Given the description of an element on the screen output the (x, y) to click on. 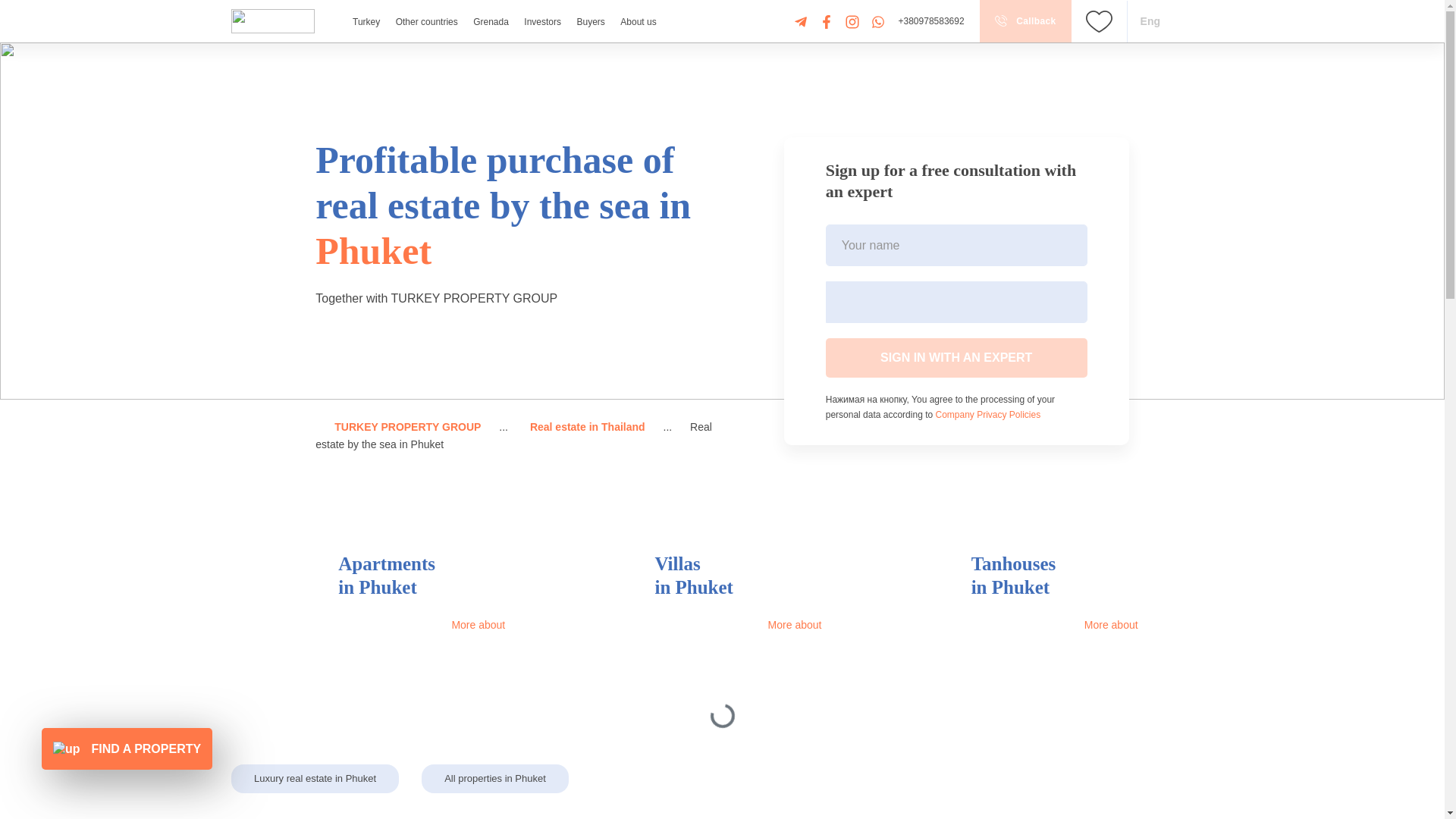
Grenada (490, 21)
Other countries (427, 21)
About us (638, 21)
Buyers (590, 21)
Turkey (366, 21)
Investors (542, 21)
